Given the description of an element on the screen output the (x, y) to click on. 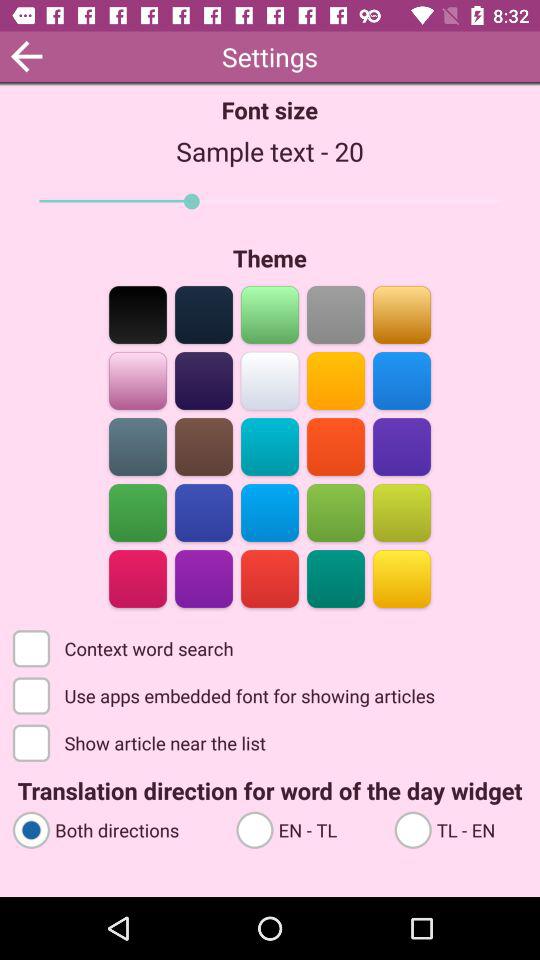
select color option (203, 445)
